Given the description of an element on the screen output the (x, y) to click on. 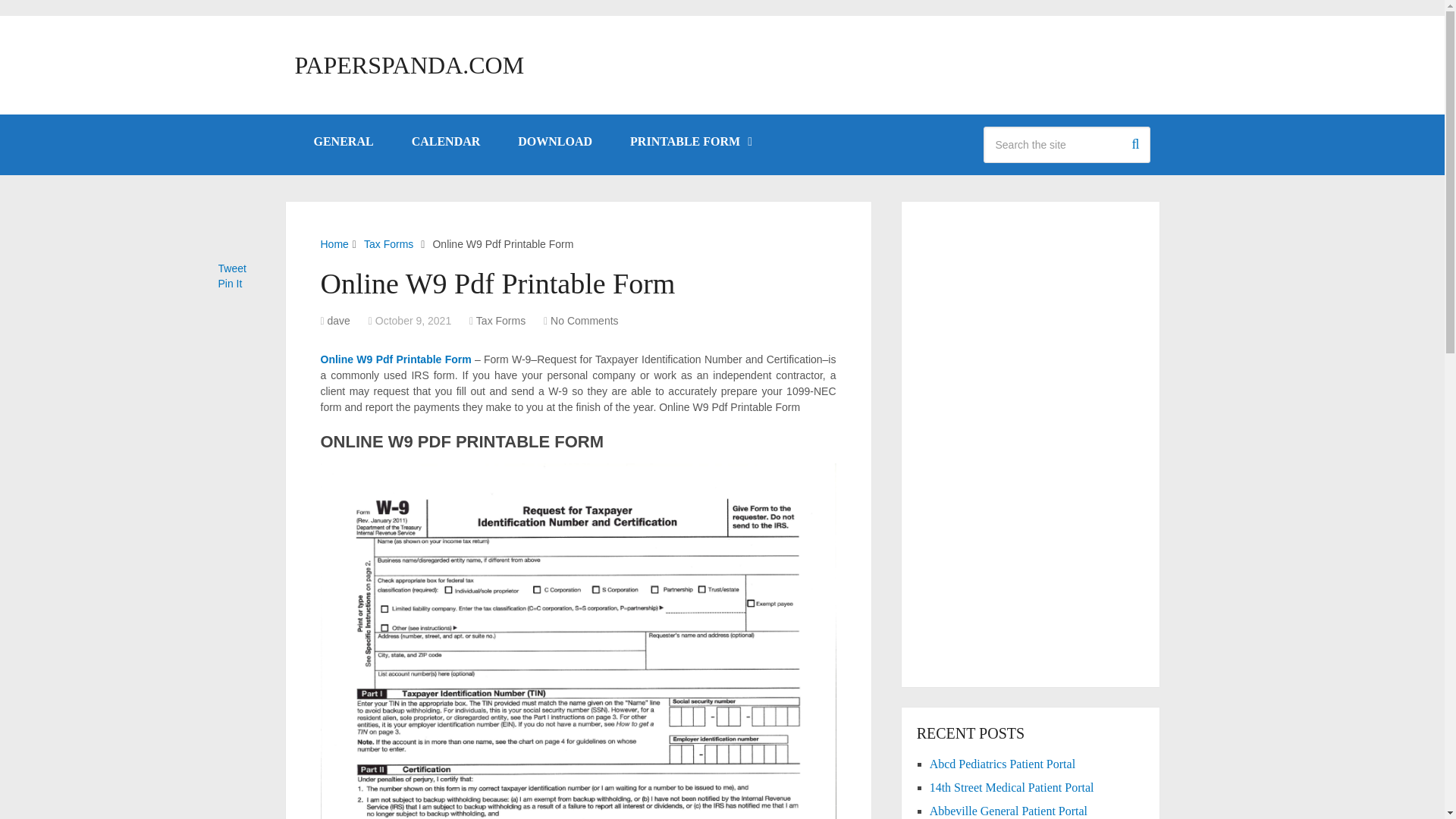
DOWNLOAD (555, 141)
Home (333, 244)
No Comments (583, 320)
Tax Forms (388, 244)
Posts by dave (338, 320)
14th Street Medical Patient Portal (1012, 787)
Tax Forms (500, 320)
dave (338, 320)
Abcd Pediatrics Patient Portal (1002, 763)
CALENDAR (446, 141)
Search (1134, 141)
PAPERSPANDA.COM (409, 64)
PRINTABLE FORM (689, 141)
Abbeville General Patient Portal (1008, 810)
Online W9 Pdf Printable Form (395, 358)
